Given the description of an element on the screen output the (x, y) to click on. 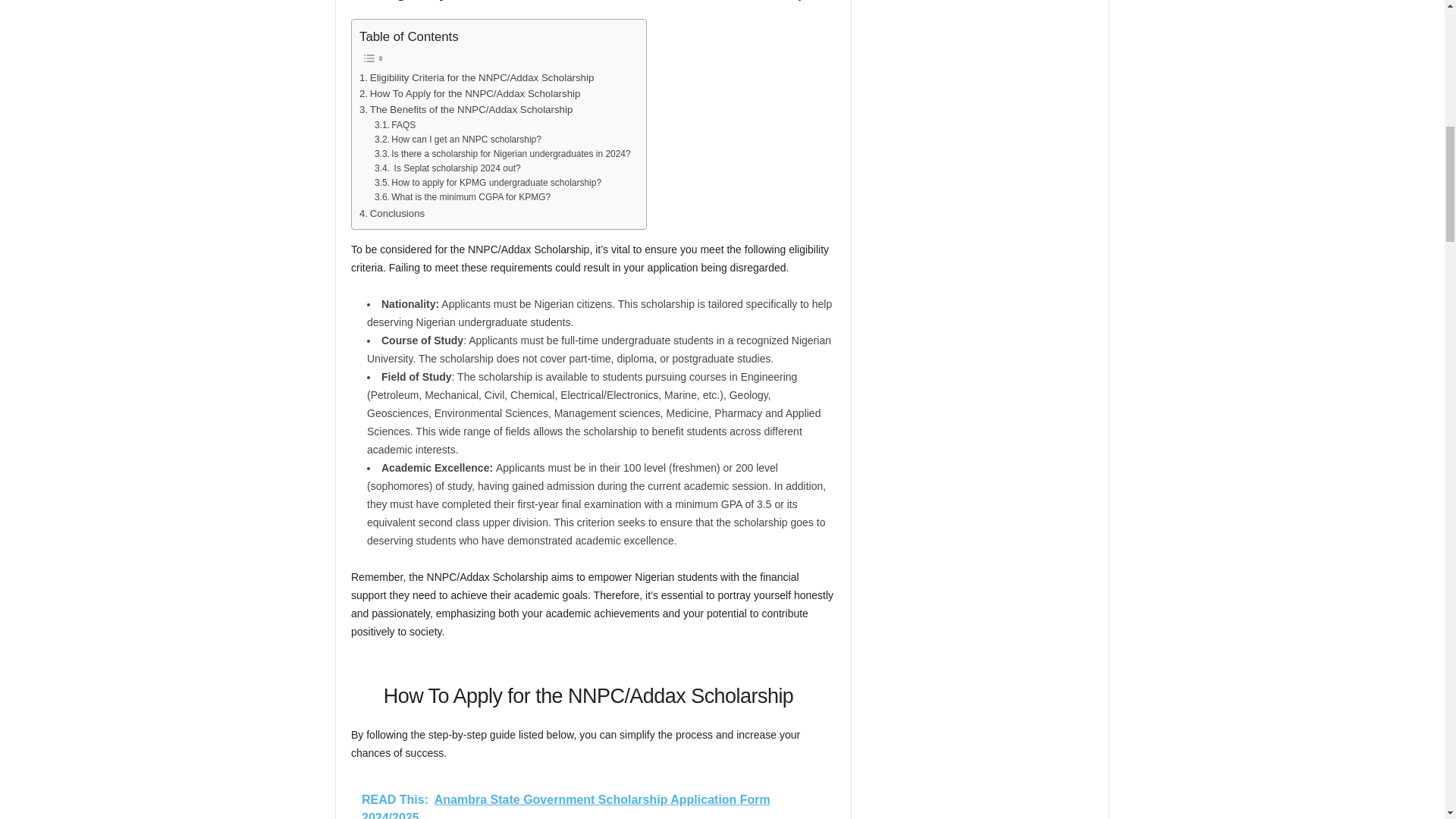
Conclusions (392, 212)
 Is Seplat scholarship 2024 out? (447, 168)
Is there a scholarship for Nigerian undergraduates in 2024? (502, 154)
FAQS (394, 124)
How can I get an NNPC scholarship? (457, 139)
How to apply for KPMG undergraduate scholarship? (487, 183)
FAQS (394, 124)
How can I get an NNPC scholarship? (457, 139)
What is the minimum CGPA for KPMG? (462, 197)
